Given the description of an element on the screen output the (x, y) to click on. 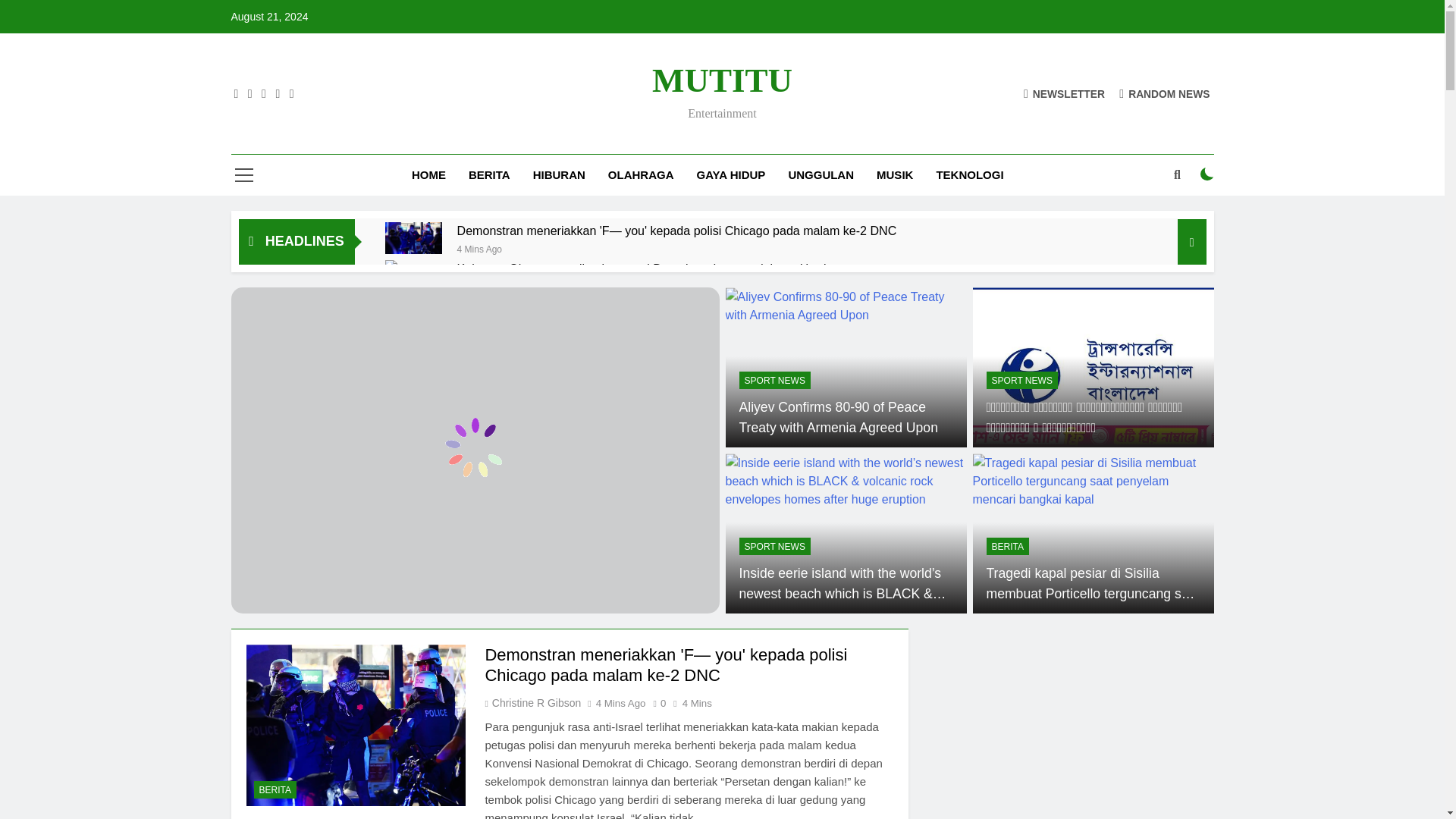
4 Mins Ago (479, 247)
TEKNOLOGI (969, 174)
OLAHRAGA (640, 174)
HIBURAN (558, 174)
UNGGULAN (820, 174)
HOME (428, 174)
on (1206, 173)
NEWSLETTER (1064, 92)
